Given the description of an element on the screen output the (x, y) to click on. 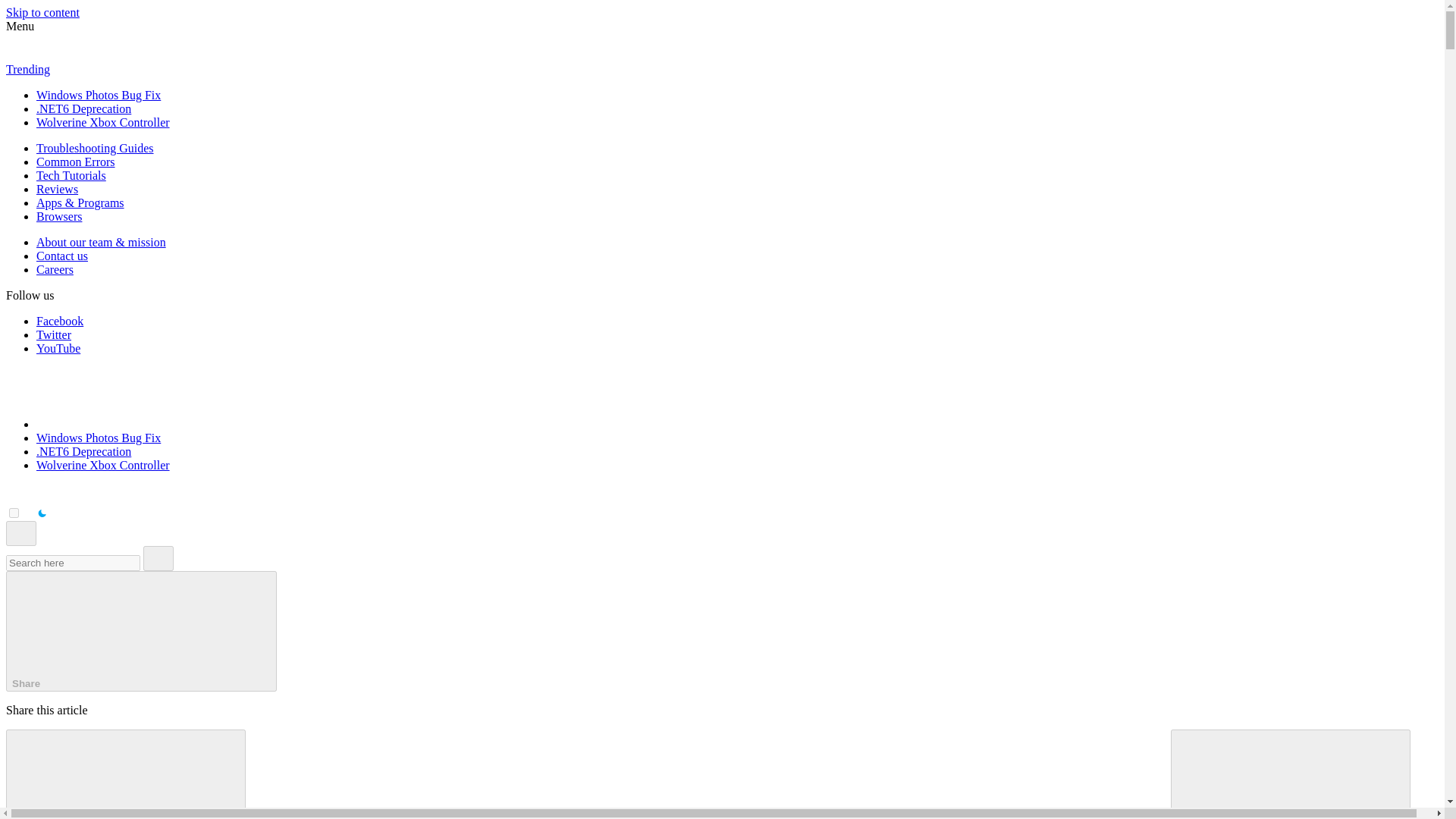
Wolverine Xbox Controller (103, 464)
Twitter (53, 334)
Search (157, 558)
Troubleshooting Guides (95, 147)
.NET6 Deprecation (83, 451)
Careers (55, 269)
on (13, 512)
Windows Photos Bug Fix (98, 437)
Trending (27, 69)
Tech Tutorials (71, 174)
.NET6 Deprecation (83, 108)
Windows Photos Bug Fix (98, 94)
Browsers (58, 215)
Reviews (57, 188)
Open search bar (20, 533)
